Given the description of an element on the screen output the (x, y) to click on. 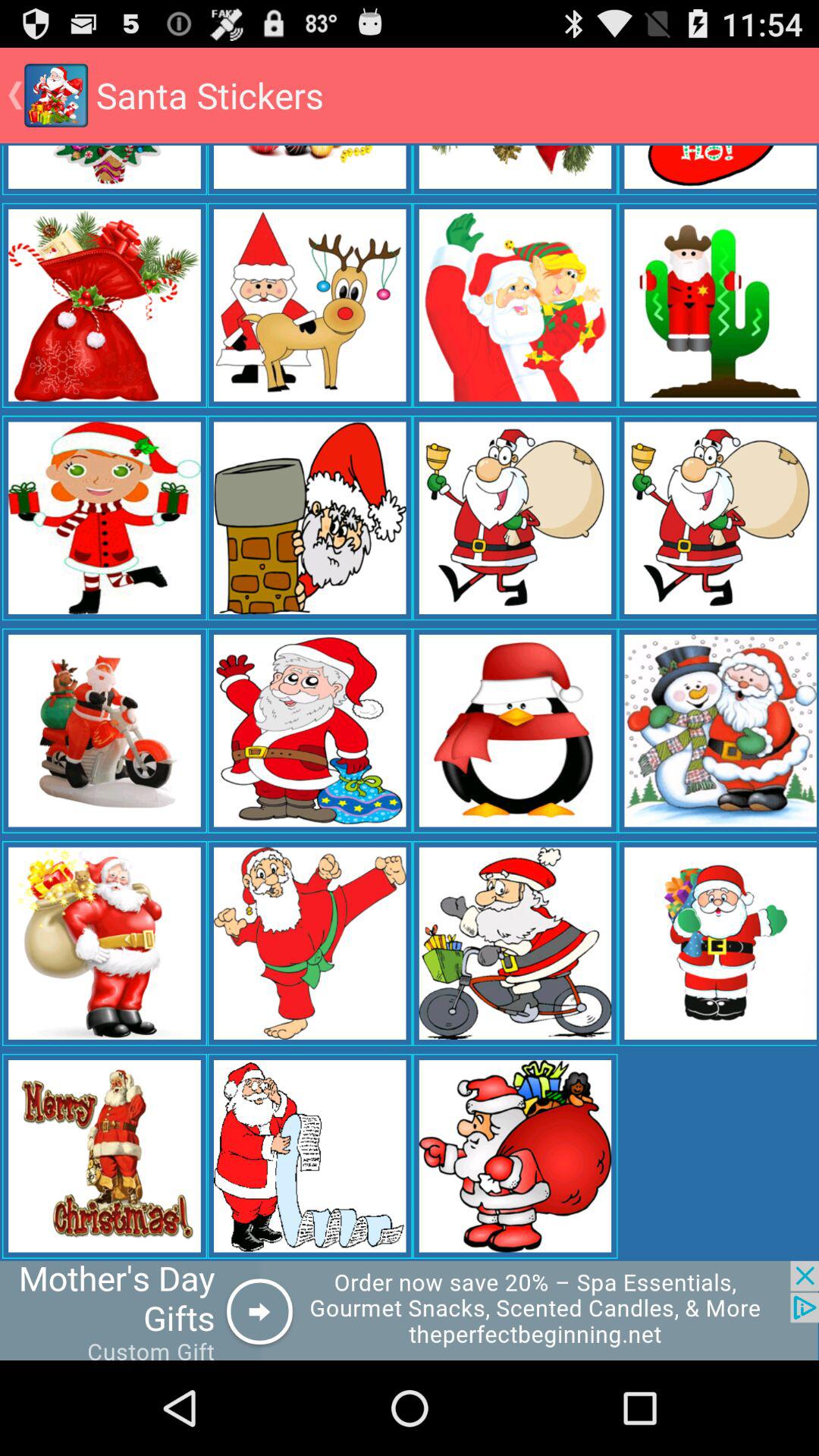
select the image in third column fourth row from the bottom (515, 517)
select the image in the first column fifth row from the bottom (104, 305)
select from the 5th column last pic (717, 943)
click on the second row third image (515, 305)
select the 4th image from 3rd row from the bottom (717, 730)
click on the last row second image (310, 1156)
select the 2nd image from 2nd row from the bottom (310, 943)
